Given the description of an element on the screen output the (x, y) to click on. 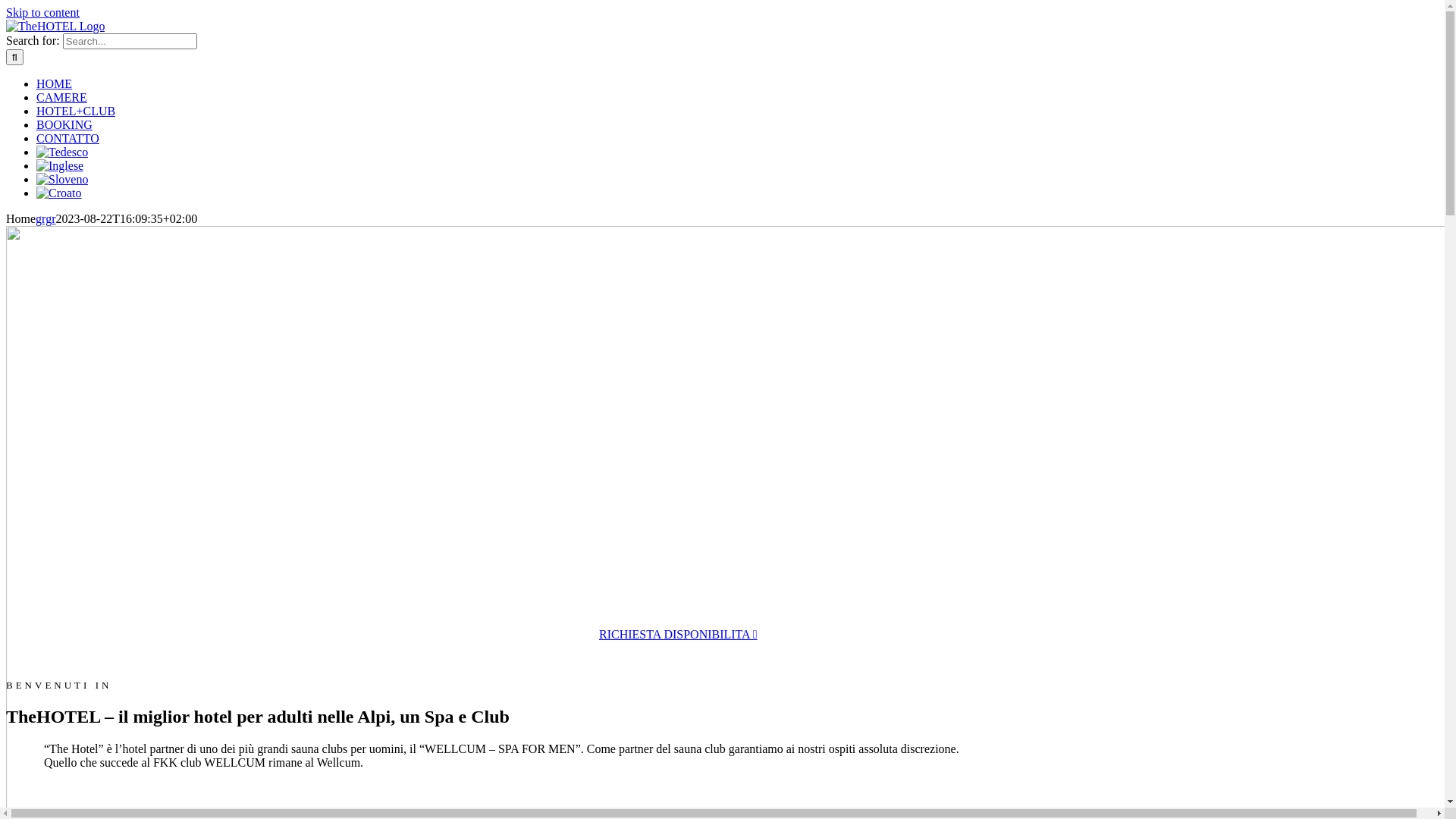
HOME Element type: text (54, 83)
Skip to content Element type: text (42, 12)
grgr Element type: text (45, 218)
HOTEL+CLUB Element type: text (75, 110)
CAMERE Element type: text (61, 97)
BOOKING Element type: text (64, 124)
CONTATTO Element type: text (67, 137)
